Given the description of an element on the screen output the (x, y) to click on. 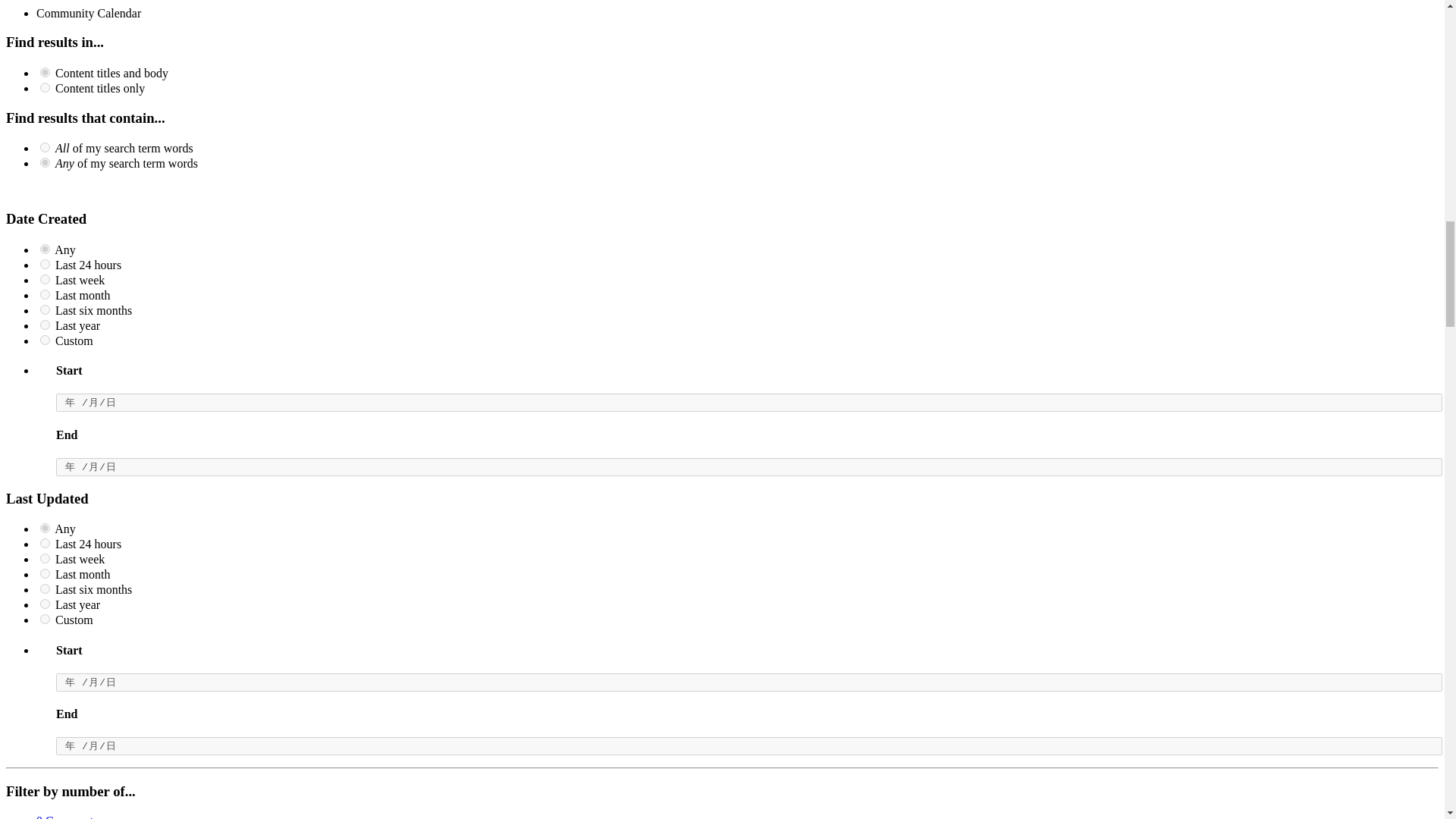
and (44, 147)
or (44, 162)
titles (44, 87)
all (44, 71)
